Given the description of an element on the screen output the (x, y) to click on. 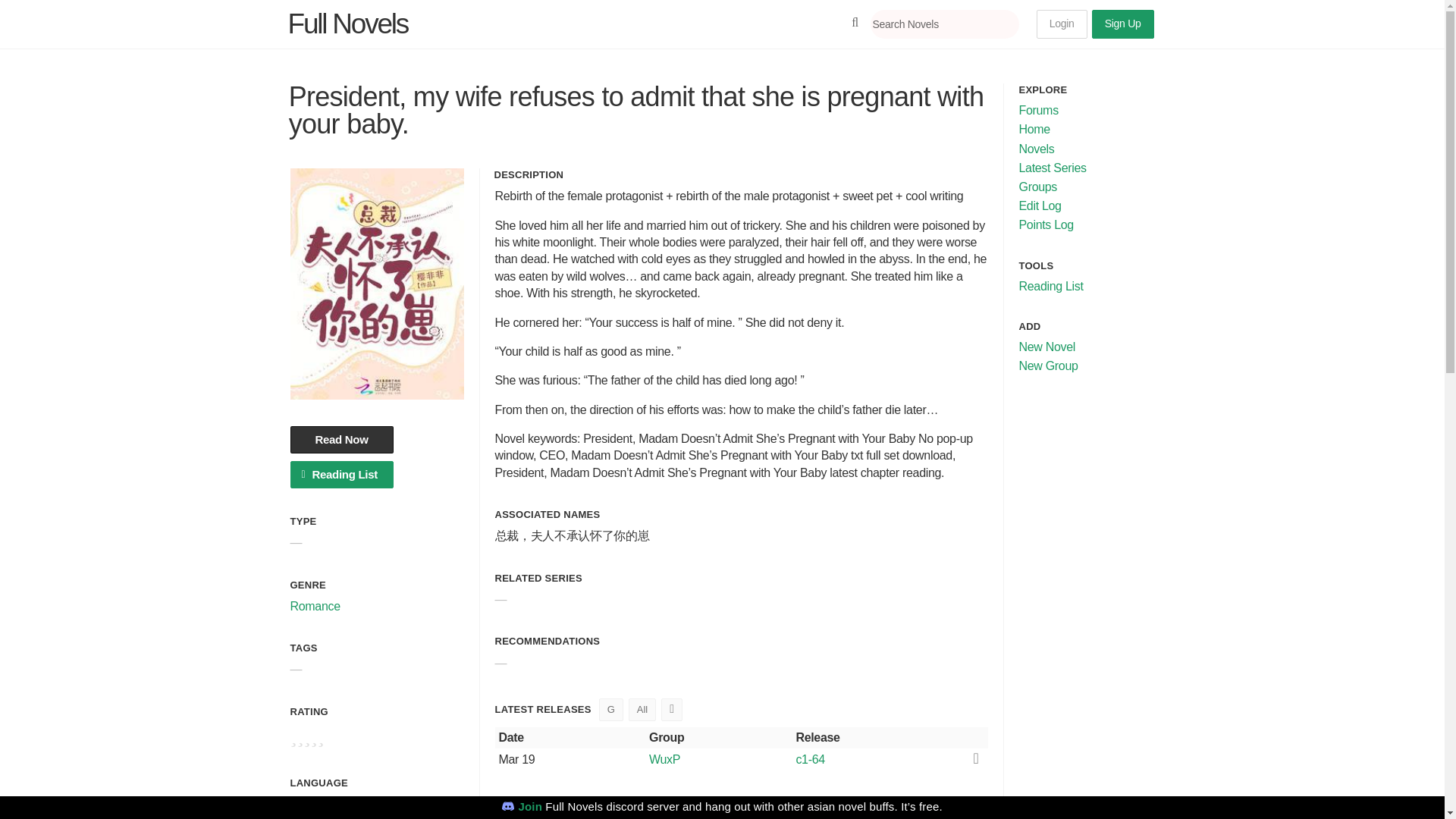
FullNovels.com (348, 23)
Reading List (1051, 286)
Full Novels (348, 23)
c1-64 (809, 759)
4 months ago (517, 758)
Discussions (671, 709)
Forums (1038, 110)
New Novel (1047, 346)
Original Language (318, 782)
Romance (314, 605)
Login (1061, 23)
WuxP (718, 759)
Reading List (341, 474)
Latest Series (1052, 167)
Groups (1038, 186)
